Given the description of an element on the screen output the (x, y) to click on. 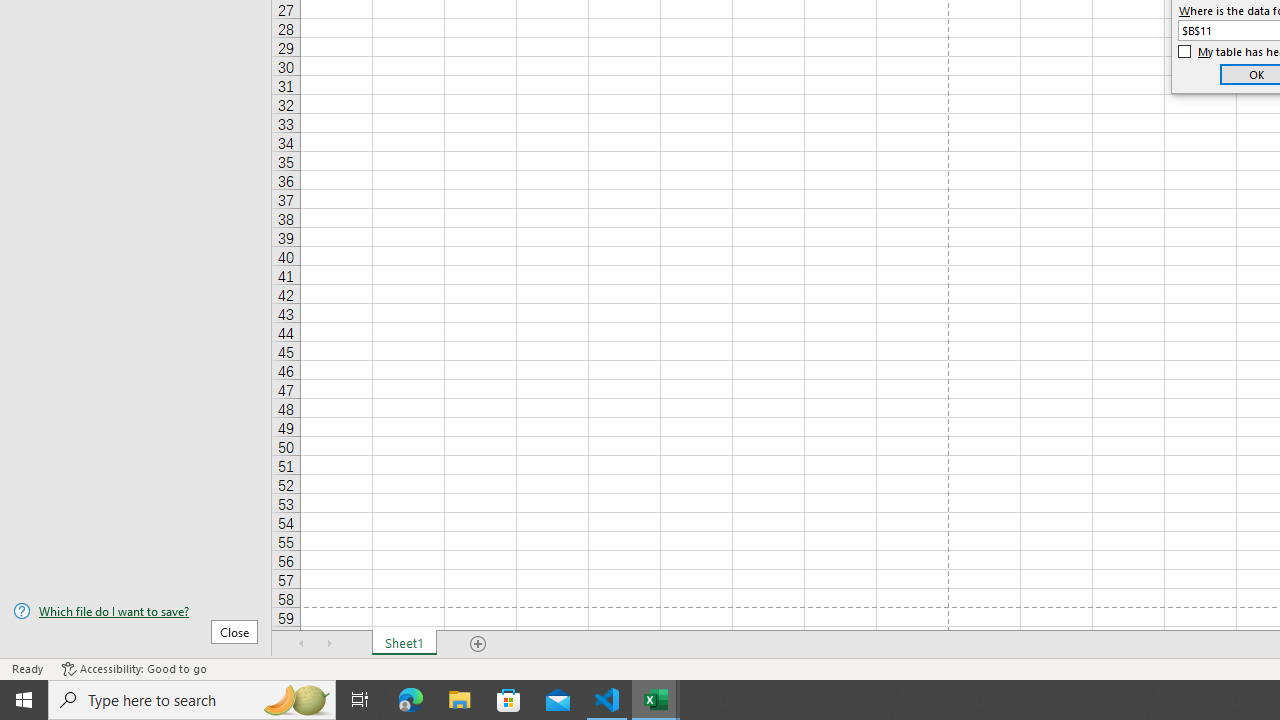
Which file do I want to save? (136, 611)
Accessibility Checker Accessibility: Good to go (134, 668)
Sheet1 (404, 644)
Scroll Right (330, 644)
Scroll Left (302, 644)
Add Sheet (478, 644)
